Given the description of an element on the screen output the (x, y) to click on. 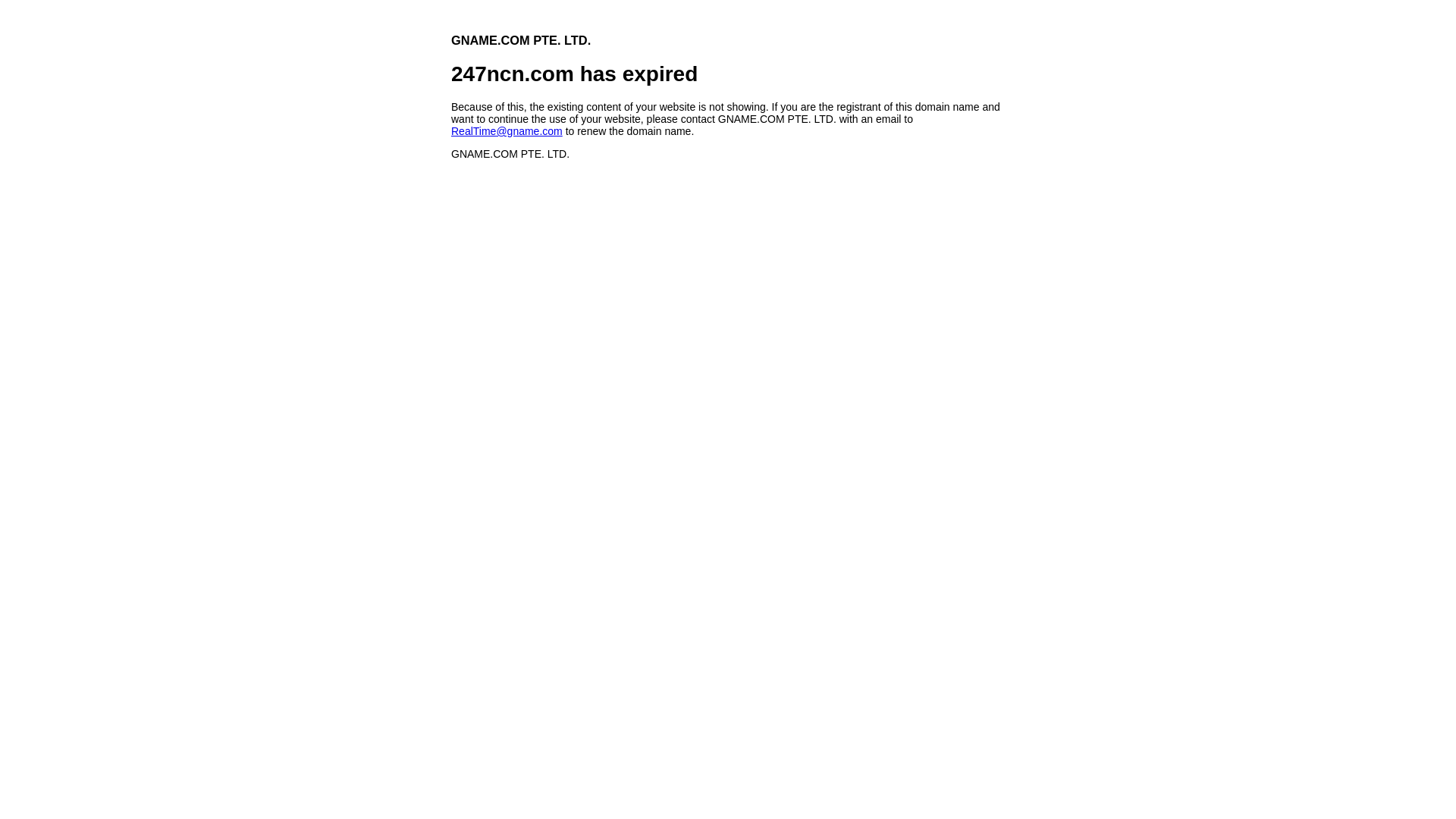
RealTime@gname.com Element type: text (506, 131)
